Given the description of an element on the screen output the (x, y) to click on. 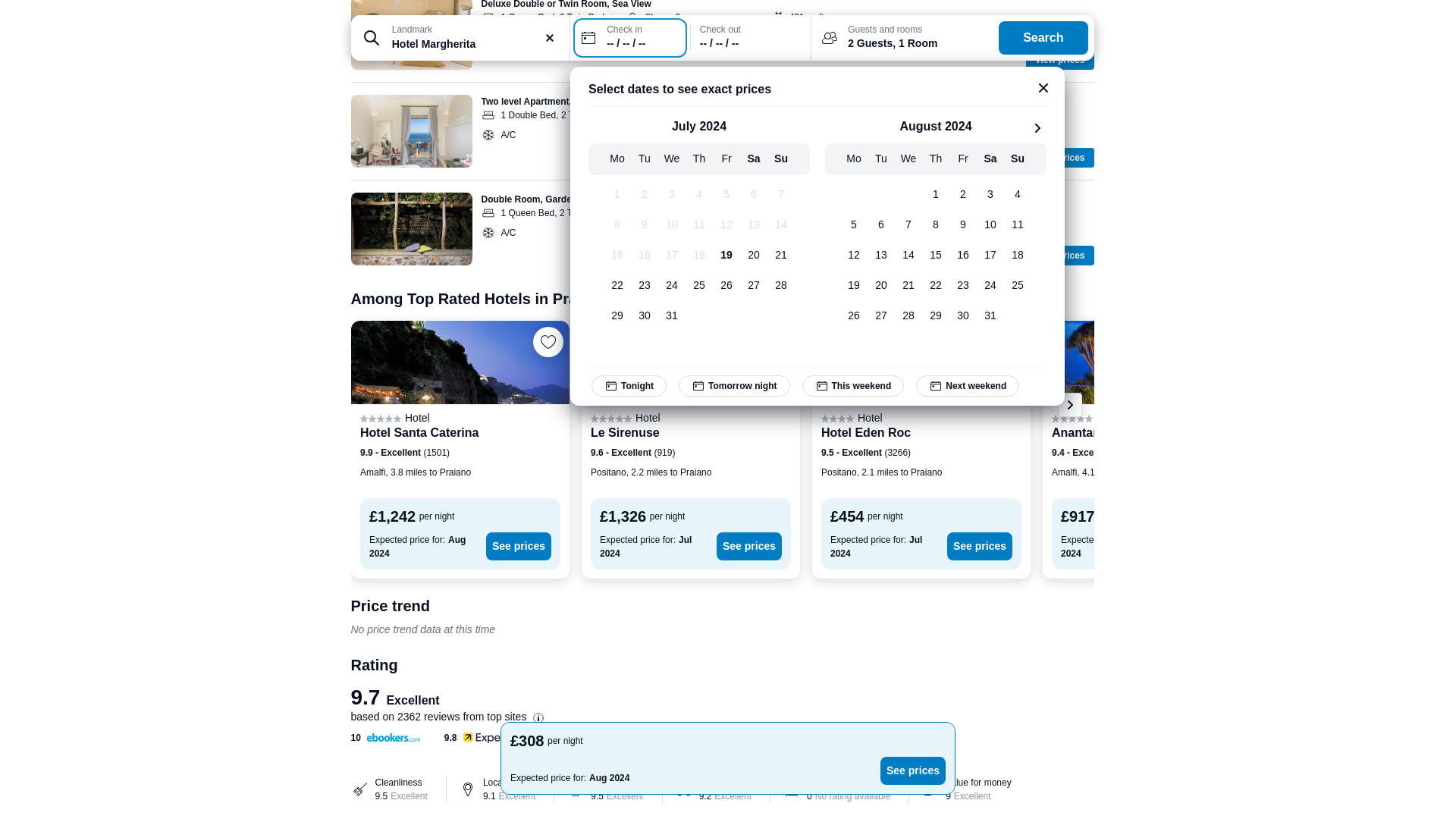
Deluxe Double or Twin Room, Sea View (565, 4)
